Given the description of an element on the screen output the (x, y) to click on. 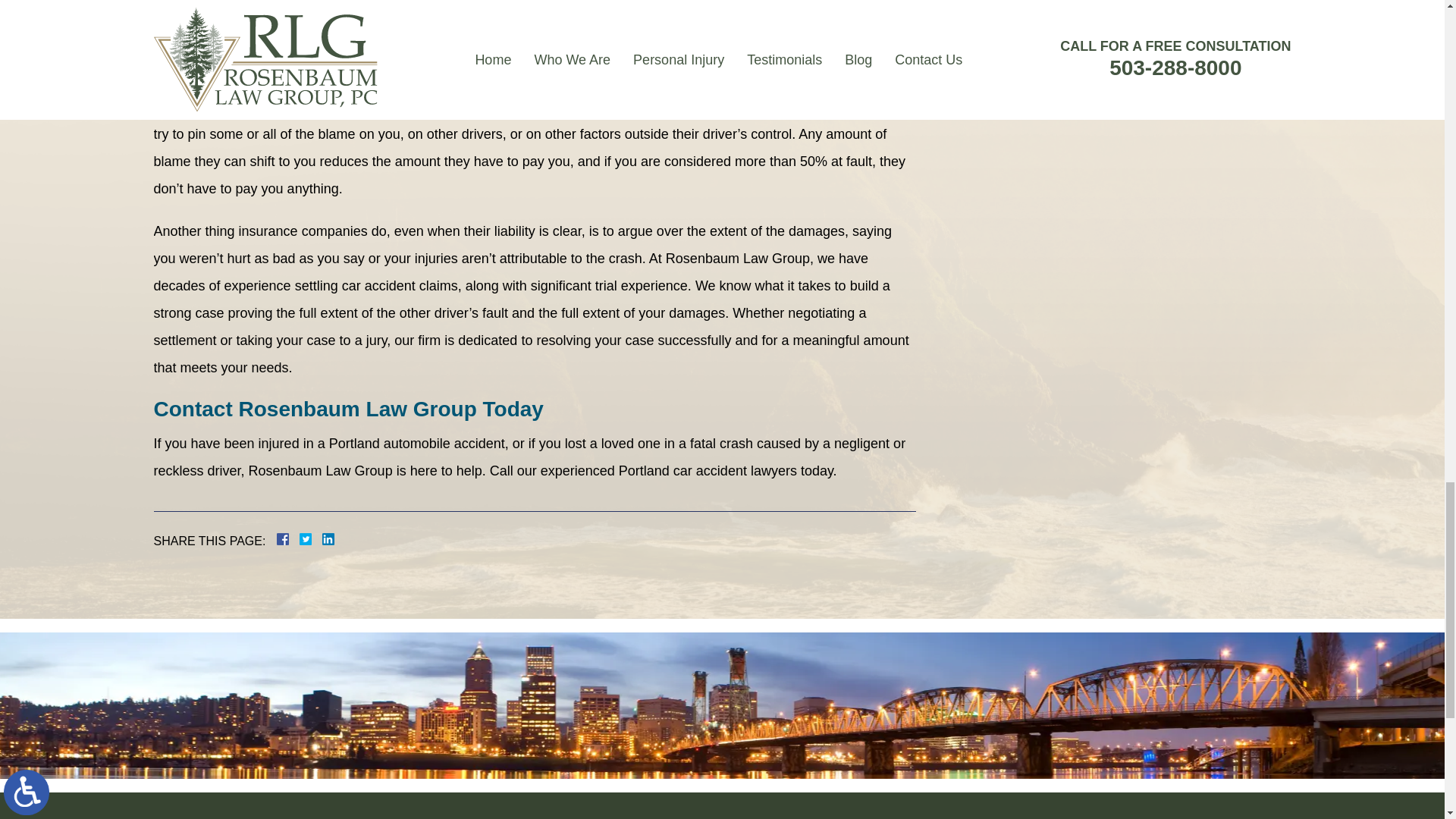
Twitter (311, 539)
LinkedIn (322, 539)
Facebook (300, 539)
